Given the description of an element on the screen output the (x, y) to click on. 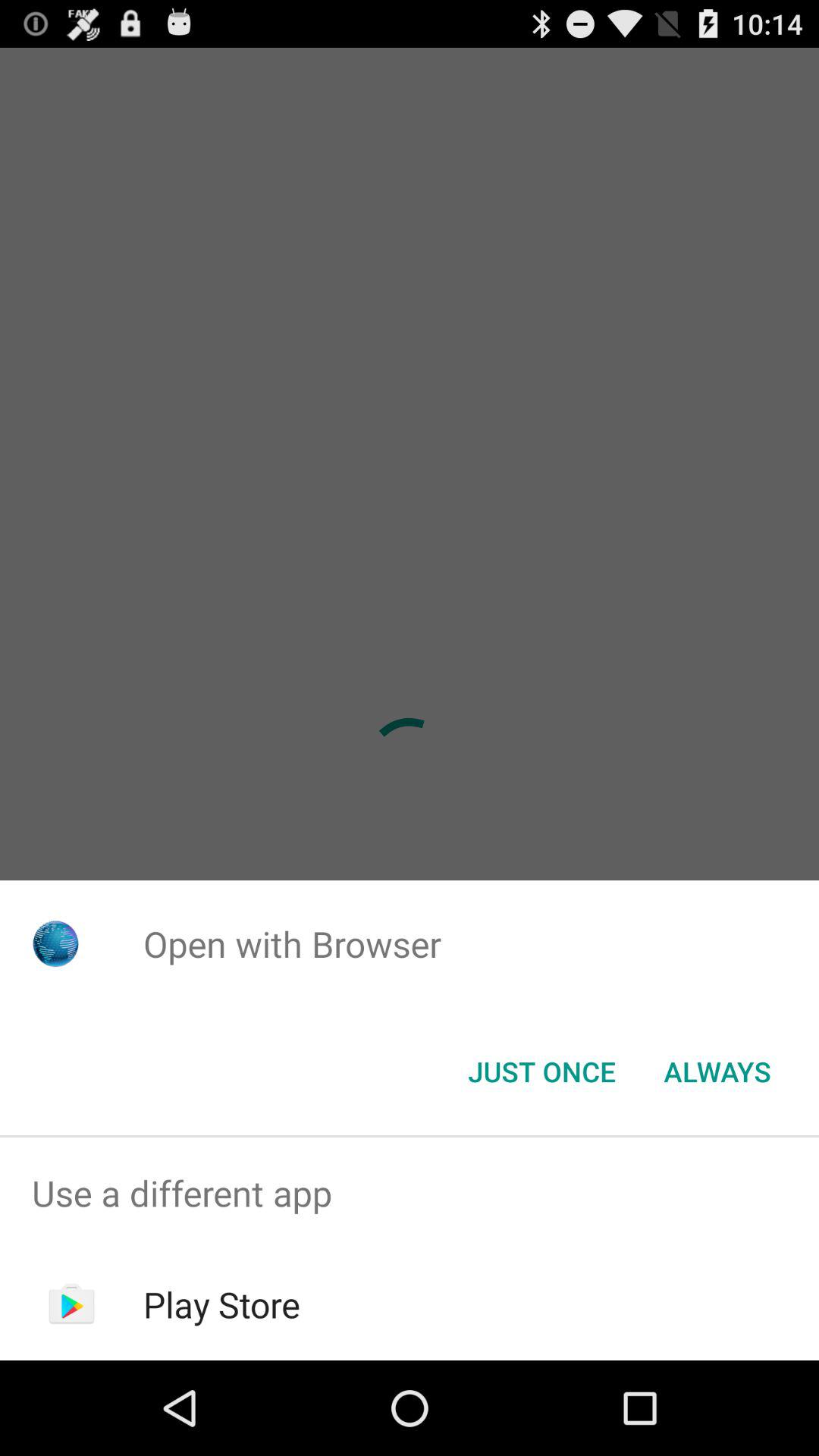
flip to the always icon (717, 1071)
